Given the description of an element on the screen output the (x, y) to click on. 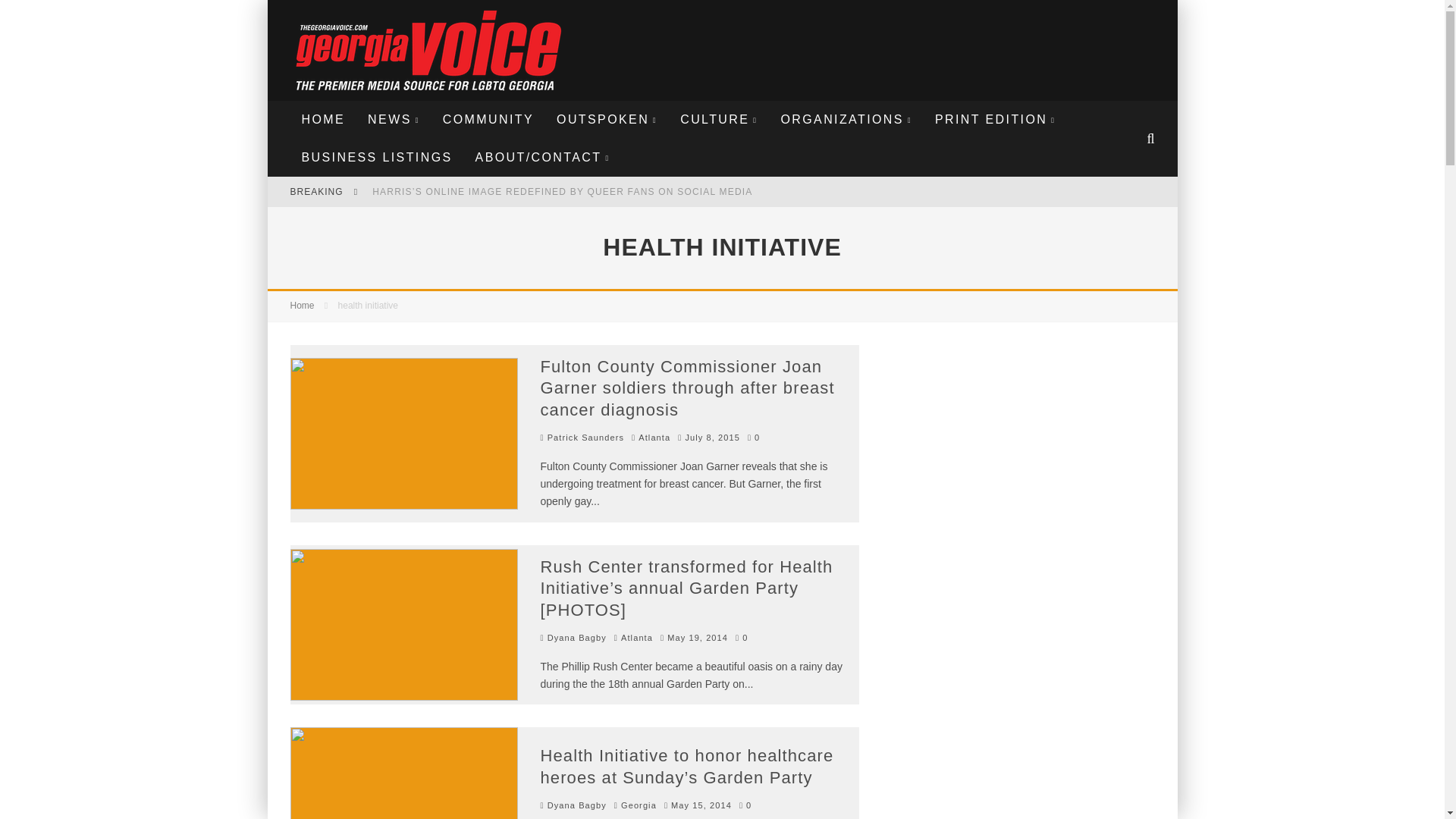
OUTSPOKEN (606, 119)
HOME (322, 119)
COMMUNITY (487, 119)
NEWS (393, 119)
CULTURE (718, 119)
